Given the description of an element on the screen output the (x, y) to click on. 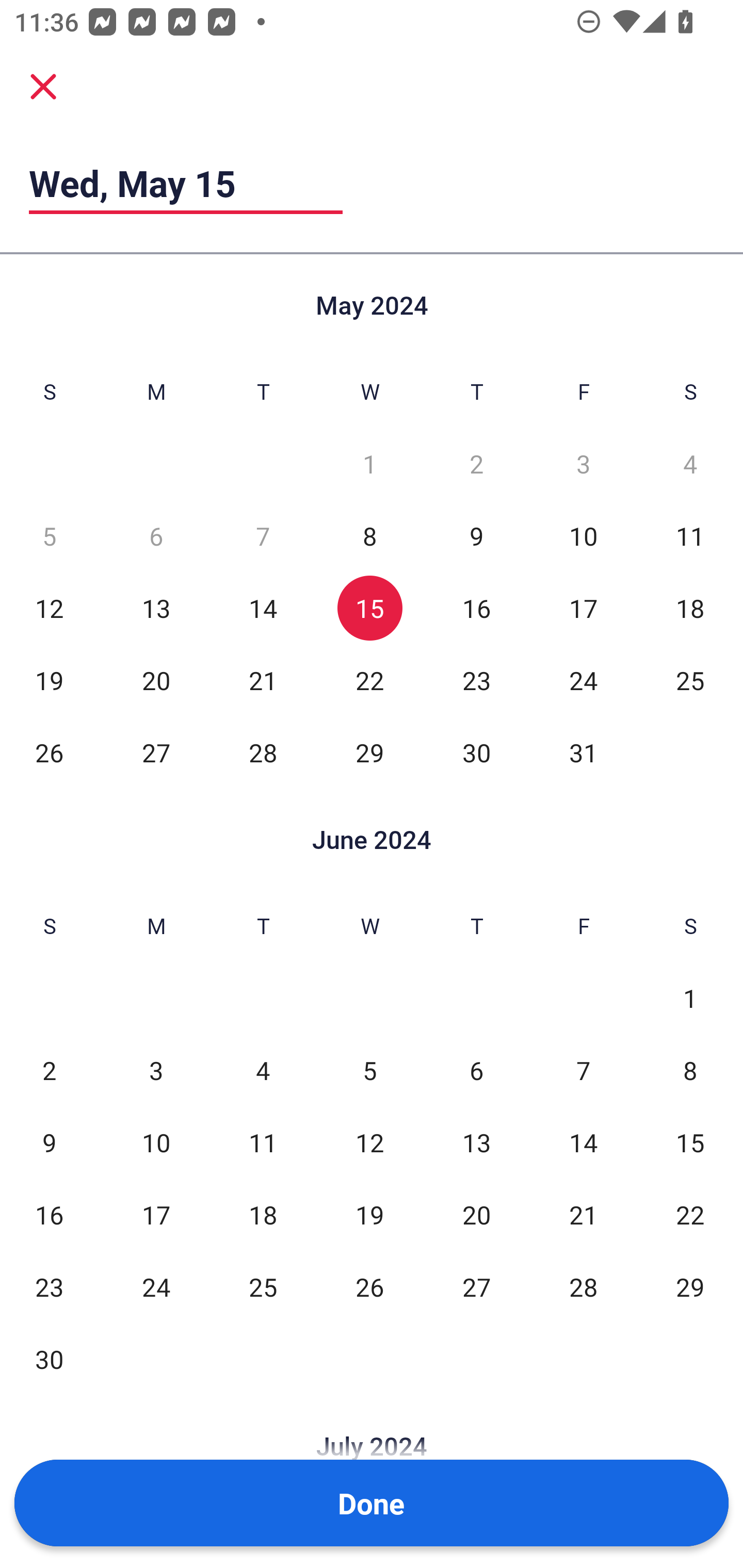
Cancel (43, 86)
Wed, May 15 (185, 182)
1 Wed, May 1, Not Selected (369, 464)
2 Thu, May 2, Not Selected (476, 464)
3 Fri, May 3, Not Selected (583, 464)
4 Sat, May 4, Not Selected (690, 464)
5 Sun, May 5, Not Selected (49, 536)
6 Mon, May 6, Not Selected (156, 536)
7 Tue, May 7, Not Selected (263, 536)
8 Wed, May 8, Not Selected (369, 536)
9 Thu, May 9, Not Selected (476, 536)
10 Fri, May 10, Not Selected (583, 536)
11 Sat, May 11, Not Selected (690, 536)
12 Sun, May 12, Not Selected (49, 608)
13 Mon, May 13, Not Selected (156, 608)
14 Tue, May 14, Not Selected (263, 608)
15 Wed, May 15, Selected (369, 608)
16 Thu, May 16, Not Selected (476, 608)
17 Fri, May 17, Not Selected (583, 608)
18 Sat, May 18, Not Selected (690, 608)
19 Sun, May 19, Not Selected (49, 680)
20 Mon, May 20, Not Selected (156, 680)
21 Tue, May 21, Not Selected (263, 680)
22 Wed, May 22, Not Selected (369, 680)
23 Thu, May 23, Not Selected (476, 680)
24 Fri, May 24, Not Selected (583, 680)
25 Sat, May 25, Not Selected (690, 680)
26 Sun, May 26, Not Selected (49, 752)
27 Mon, May 27, Not Selected (156, 752)
28 Tue, May 28, Not Selected (263, 752)
29 Wed, May 29, Not Selected (369, 752)
30 Thu, May 30, Not Selected (476, 752)
31 Fri, May 31, Not Selected (583, 752)
1 Sat, Jun 1, Not Selected (690, 997)
2 Sun, Jun 2, Not Selected (49, 1070)
3 Mon, Jun 3, Not Selected (156, 1070)
4 Tue, Jun 4, Not Selected (263, 1070)
5 Wed, Jun 5, Not Selected (369, 1070)
6 Thu, Jun 6, Not Selected (476, 1070)
7 Fri, Jun 7, Not Selected (583, 1070)
8 Sat, Jun 8, Not Selected (690, 1070)
9 Sun, Jun 9, Not Selected (49, 1143)
10 Mon, Jun 10, Not Selected (156, 1143)
11 Tue, Jun 11, Not Selected (263, 1143)
12 Wed, Jun 12, Not Selected (369, 1143)
13 Thu, Jun 13, Not Selected (476, 1143)
14 Fri, Jun 14, Not Selected (583, 1143)
15 Sat, Jun 15, Not Selected (690, 1143)
16 Sun, Jun 16, Not Selected (49, 1215)
17 Mon, Jun 17, Not Selected (156, 1215)
